Given the description of an element on the screen output the (x, y) to click on. 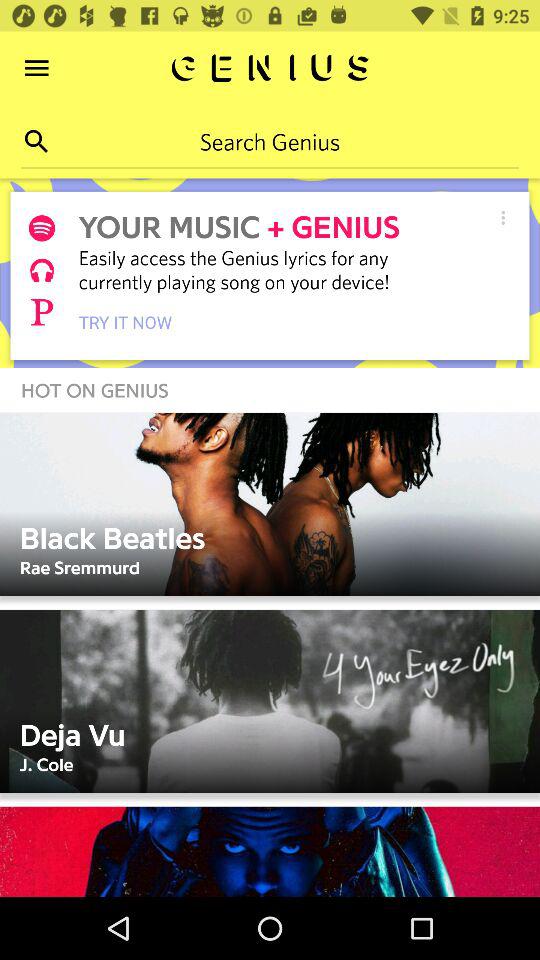
option (503, 217)
